Given the description of an element on the screen output the (x, y) to click on. 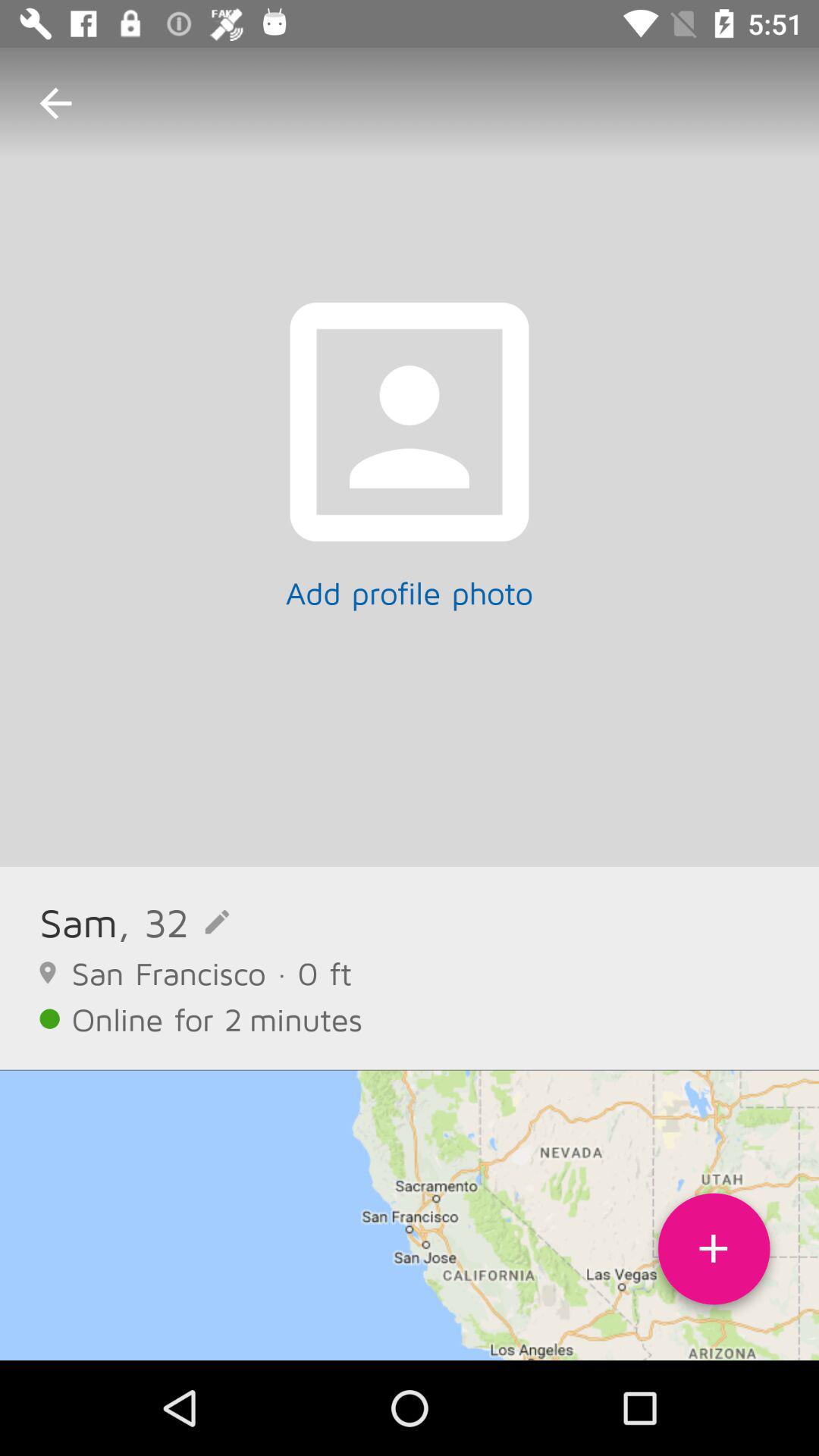
jump to sam item (78, 921)
